Given the description of an element on the screen output the (x, y) to click on. 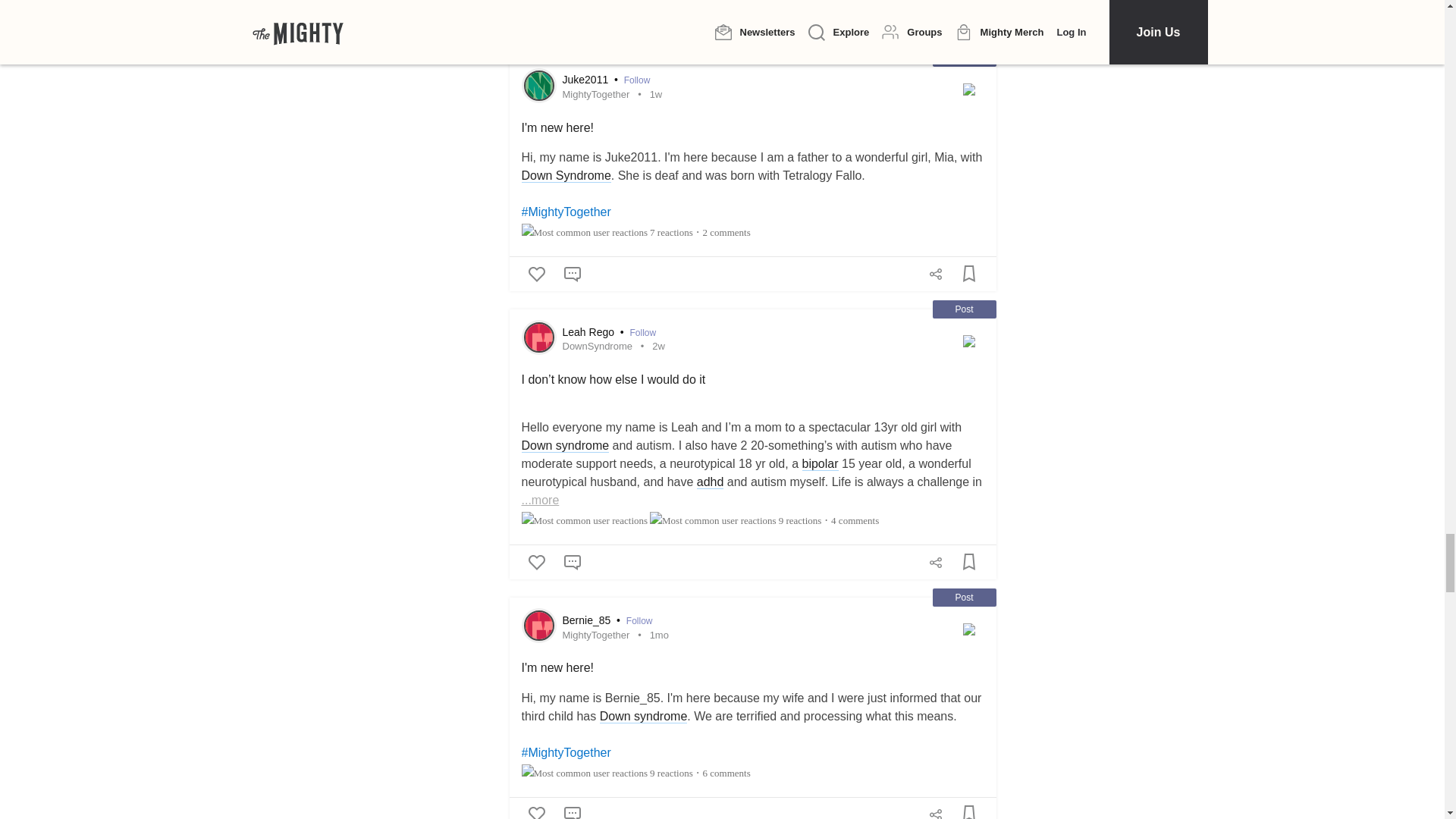
July 9, 2024 (658, 346)
Down syndrome (565, 445)
Down Syndrome (566, 175)
Visit Leah Rego's profile (537, 337)
Visit Juke2011's profile (537, 85)
July 19, 2024 (655, 93)
